Given the description of an element on the screen output the (x, y) to click on. 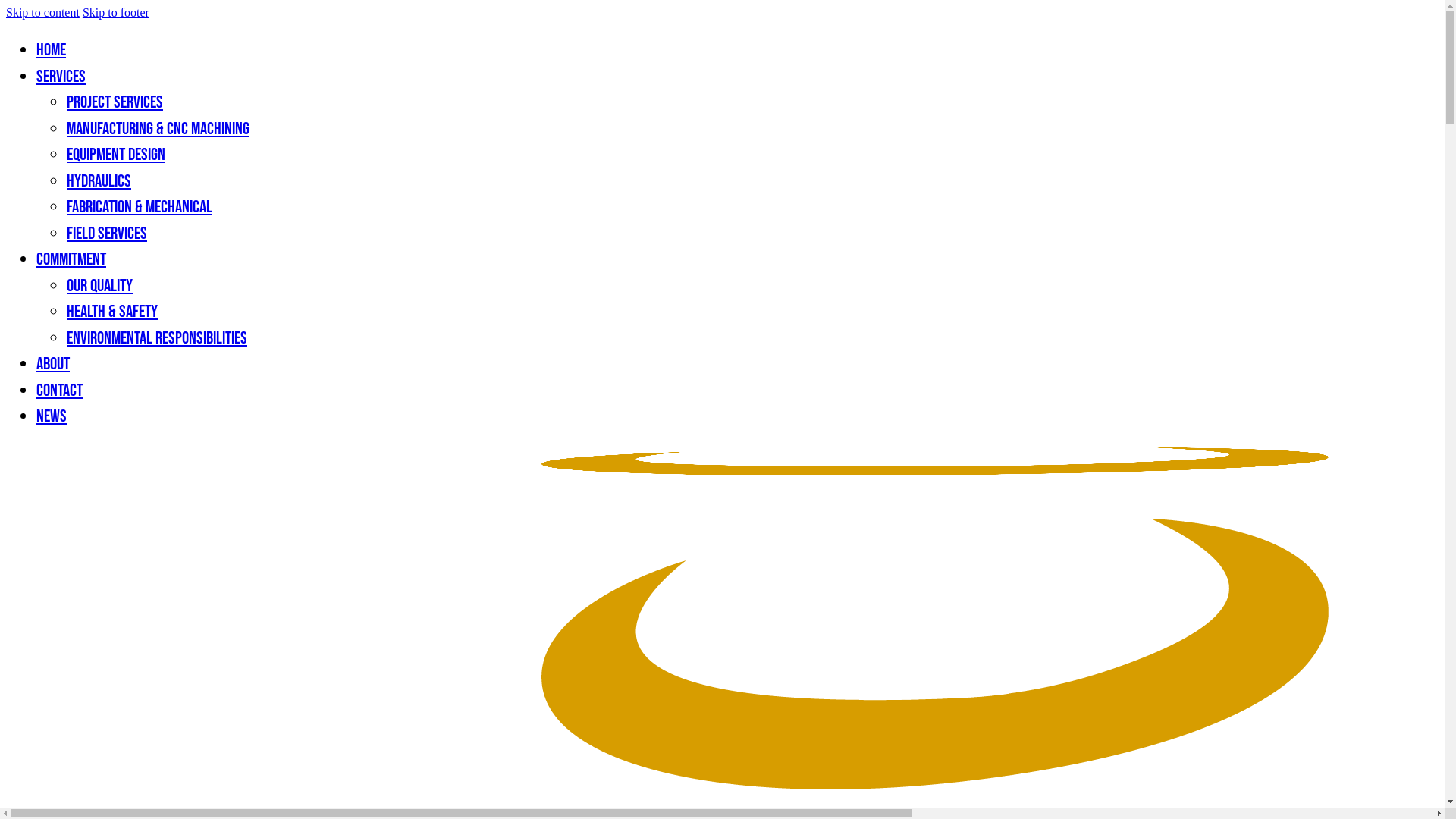
Health & Safety Element type: text (111, 311)
Our Quality Element type: text (99, 284)
Equipment Design Element type: text (115, 154)
About Element type: text (52, 363)
Manufacturing & CNC Machining Element type: text (157, 128)
Fabrication & Mechanical Element type: text (139, 206)
News Element type: text (51, 415)
Contact Element type: text (59, 389)
Home Element type: text (50, 49)
Commitment Element type: text (71, 258)
Hydraulics Element type: text (98, 180)
Services Element type: text (60, 75)
Project Services Element type: text (114, 101)
Field Services Element type: text (106, 233)
Skip to footer Element type: text (115, 12)
Skip to content Element type: text (42, 12)
Environmental Responsibilities Element type: text (156, 337)
